Given the description of an element on the screen output the (x, y) to click on. 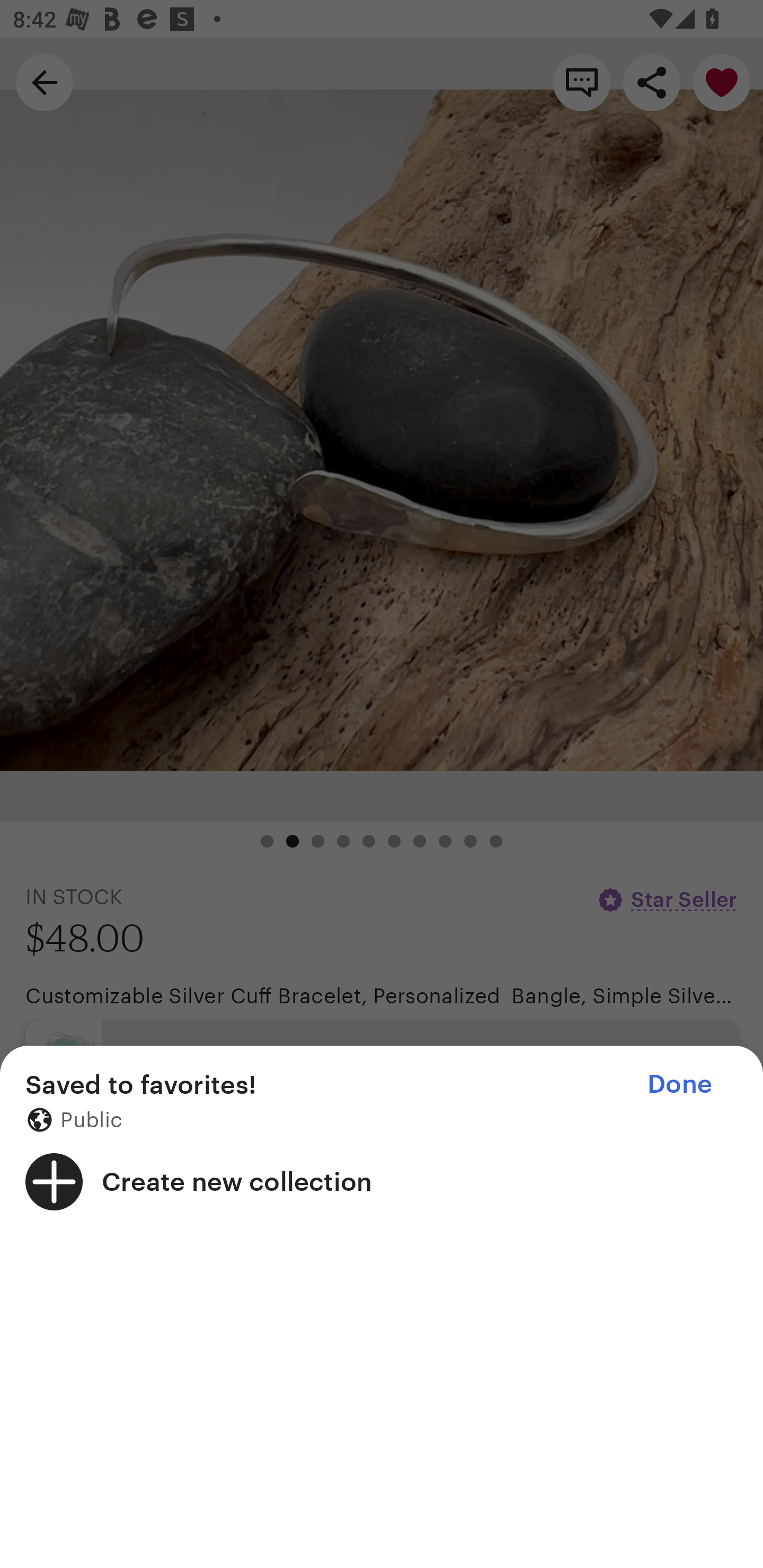
Done (679, 1083)
Create new collection (381, 1181)
